Given the description of an element on the screen output the (x, y) to click on. 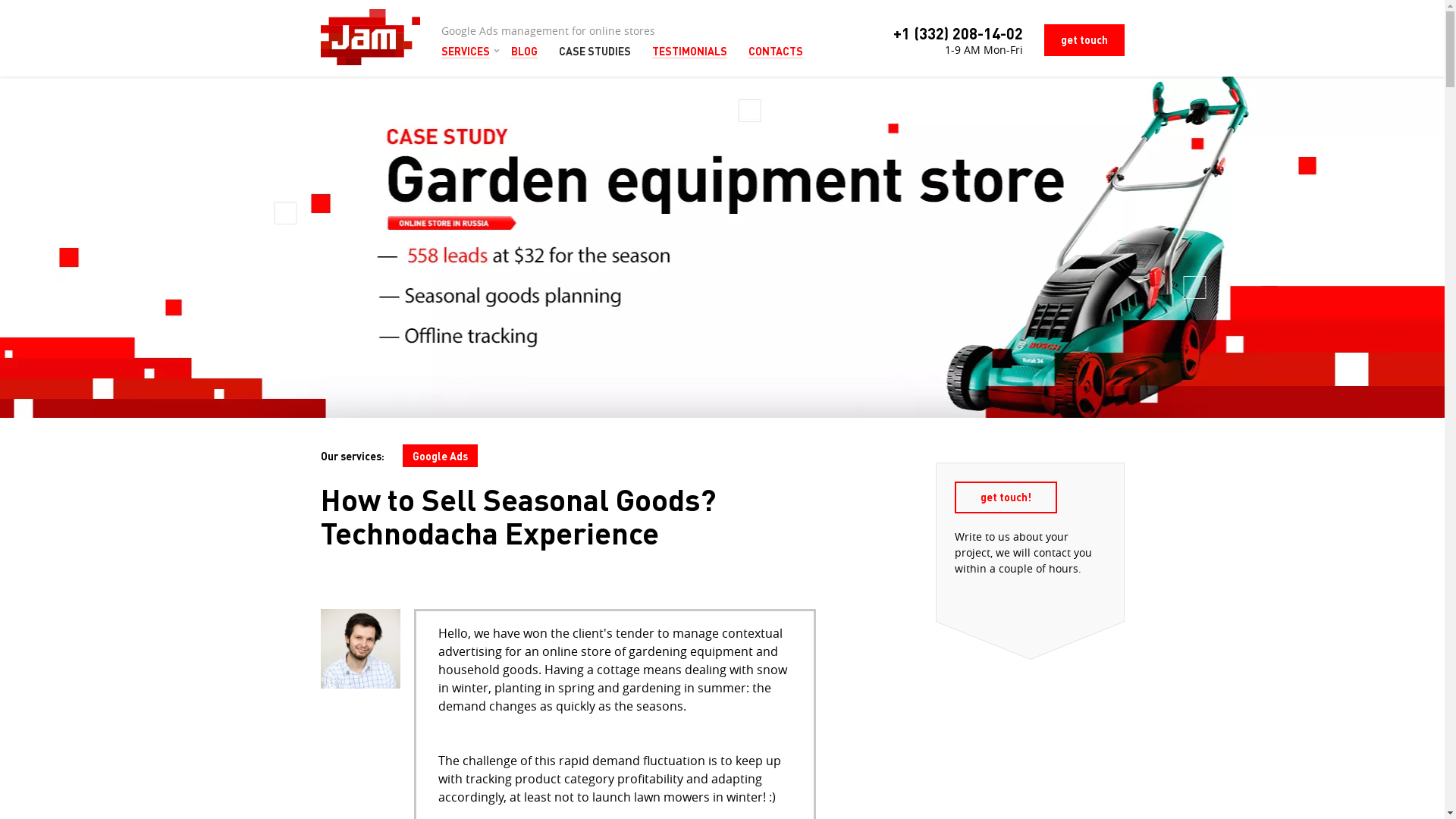
Google Ads Element type: text (439, 455)
SERVICES Element type: text (465, 50)
CASE STUDIES Element type: text (594, 50)
CONTACTS Element type: text (774, 50)
TESTIMONIALS Element type: text (689, 50)
BLOG Element type: text (524, 50)
